Given the description of an element on the screen output the (x, y) to click on. 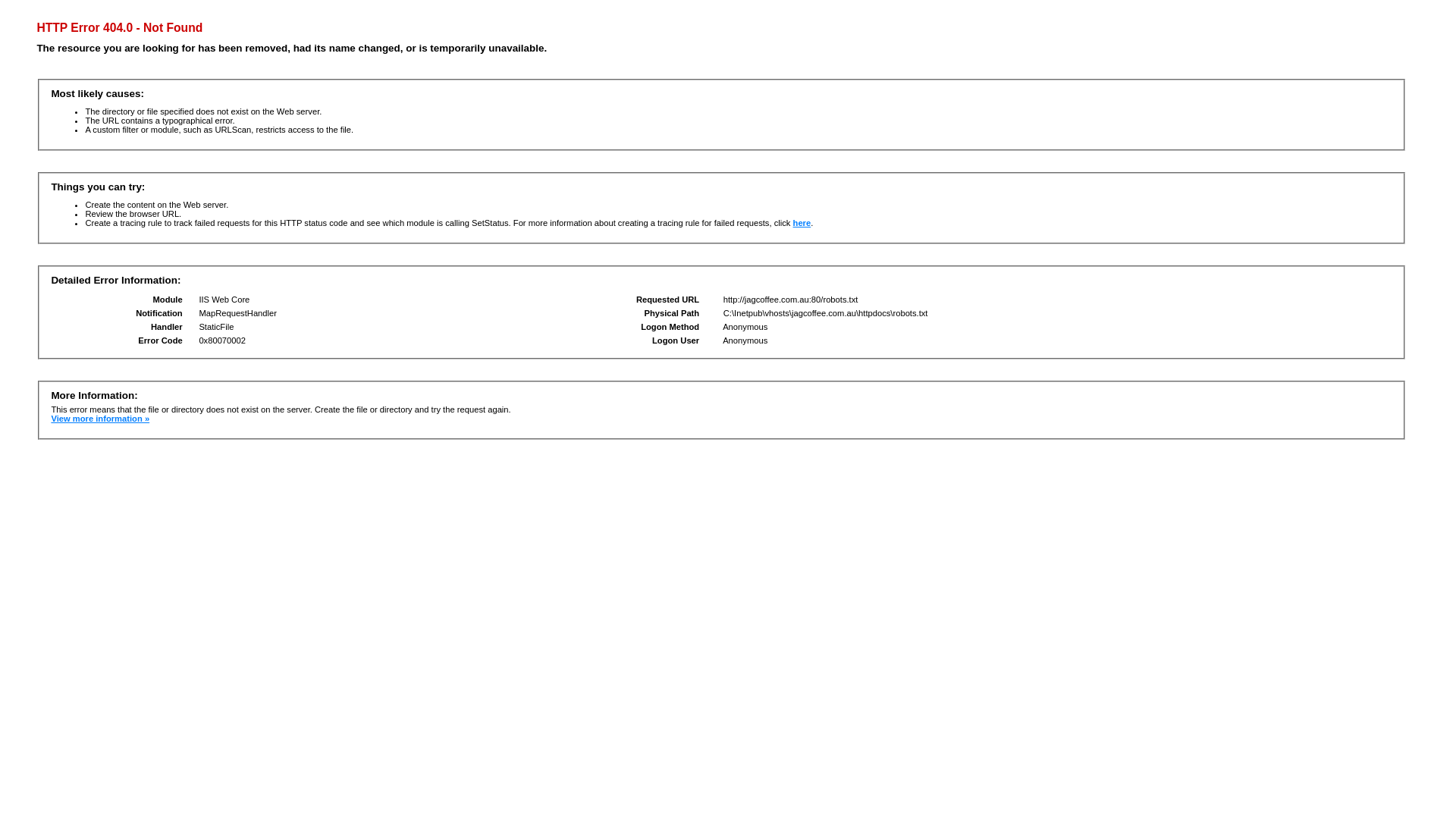
here Element type: text (802, 222)
